Given the description of an element on the screen output the (x, y) to click on. 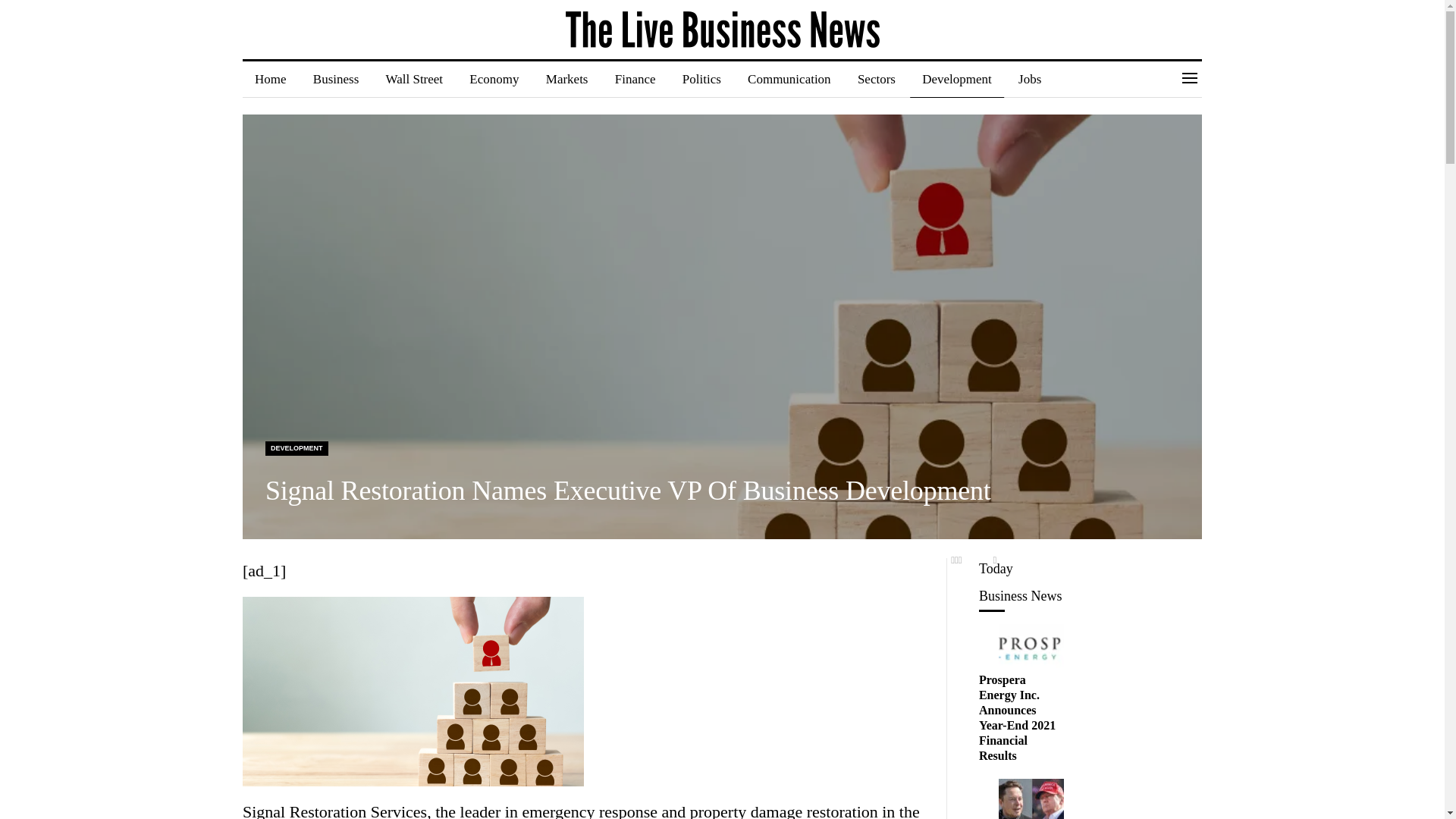
Economy (494, 79)
DEVELOPMENT (296, 448)
Sectors (876, 79)
Communication (789, 79)
Business (336, 79)
Markets (566, 79)
Wall Street (414, 79)
Finance (635, 79)
Home (270, 79)
Jobs (1029, 79)
Development (957, 79)
Politics (701, 79)
